Given the description of an element on the screen output the (x, y) to click on. 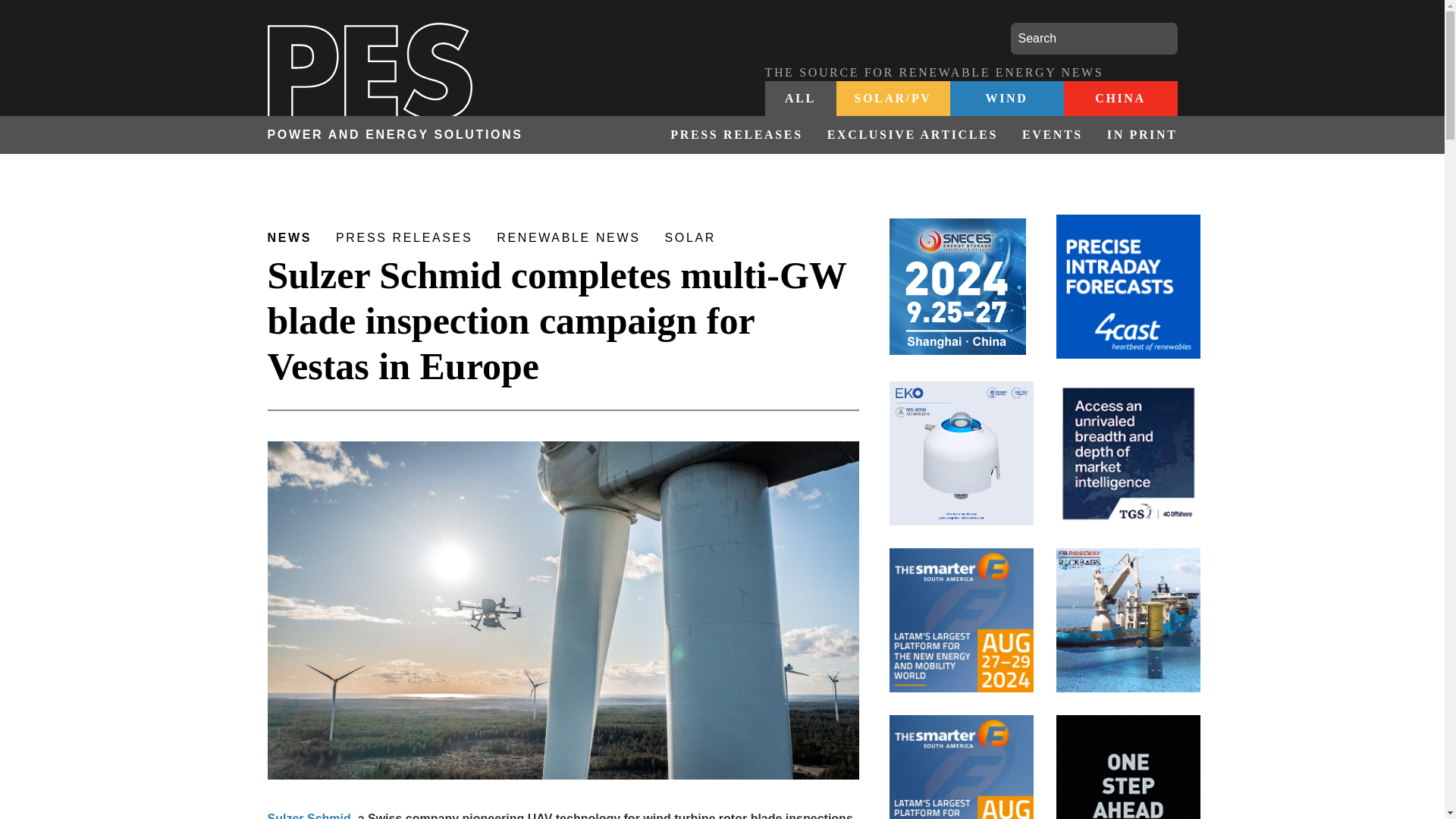
IN PRINT (1135, 134)
Search for: (1093, 38)
EVENTS (1052, 134)
ALL (799, 98)
Sulzer Schmid, (309, 815)
CHINA (1119, 98)
WIND (1005, 98)
EXCLUSIVE ARTICLES (912, 134)
PRESS RELEASES (735, 134)
